Given the description of an element on the screen output the (x, y) to click on. 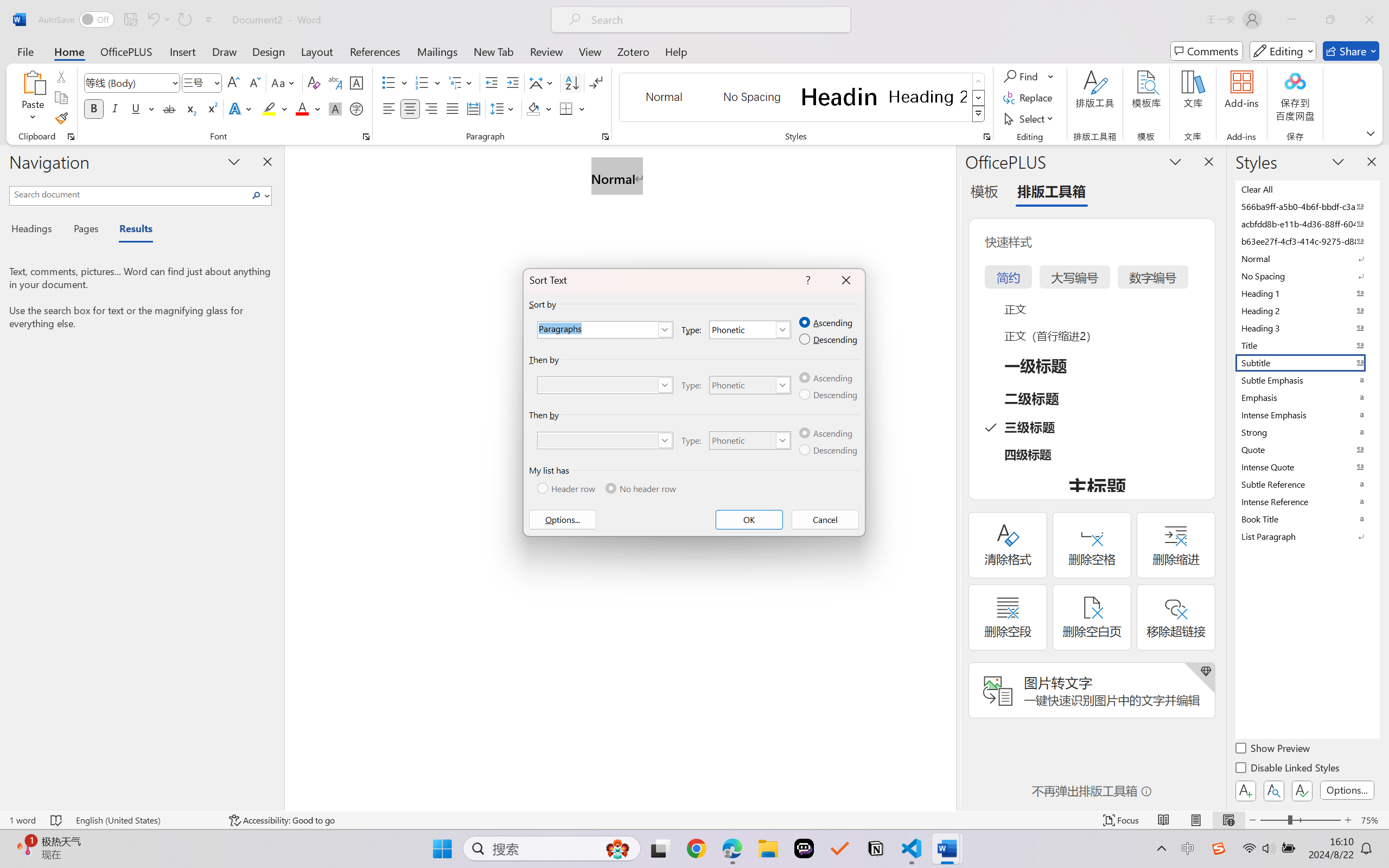
Review (546, 51)
Grow Font (233, 82)
Search document (128, 193)
Bold (94, 108)
566ba9ff-a5b0-4b6f-bbdf-c3ab41993fc2 (1306, 206)
Language English (United States) (144, 819)
Enclose Characters... (356, 108)
Share (1350, 51)
Font... (365, 136)
Headings (35, 229)
Title (1306, 345)
Focus  (1121, 819)
Restore Down (1330, 19)
